Given the description of an element on the screen output the (x, y) to click on. 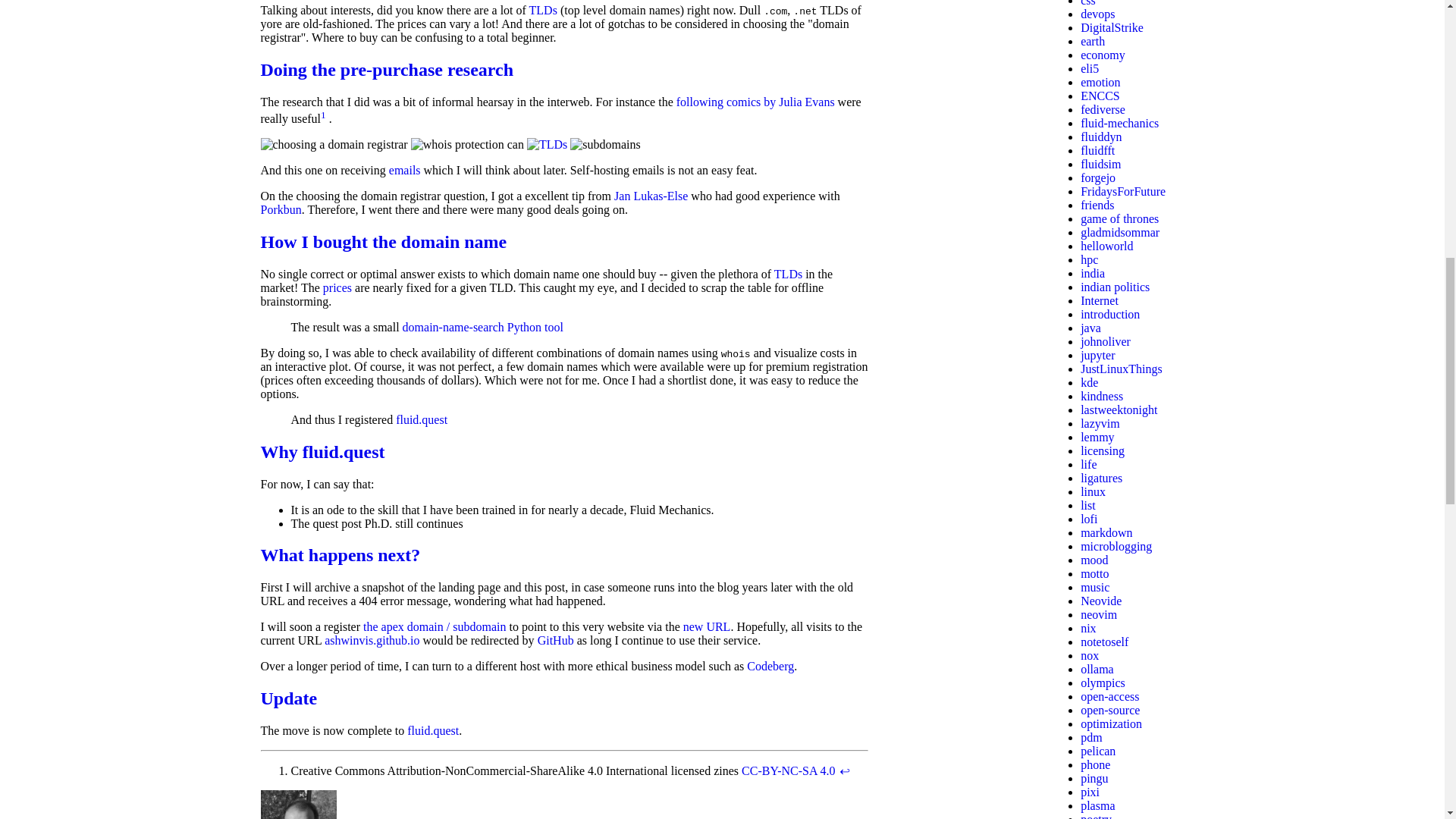
fluid.quest (421, 419)
domain-name-search Python tool (483, 327)
TLDs (543, 10)
Jump back to footnote 1 in the text (844, 770)
Doing the pre-purchase research (386, 69)
following comics by Julia Evans (755, 101)
emails (404, 169)
prices (337, 287)
TLDs (788, 273)
How I bought the domain name (383, 241)
